Given the description of an element on the screen output the (x, y) to click on. 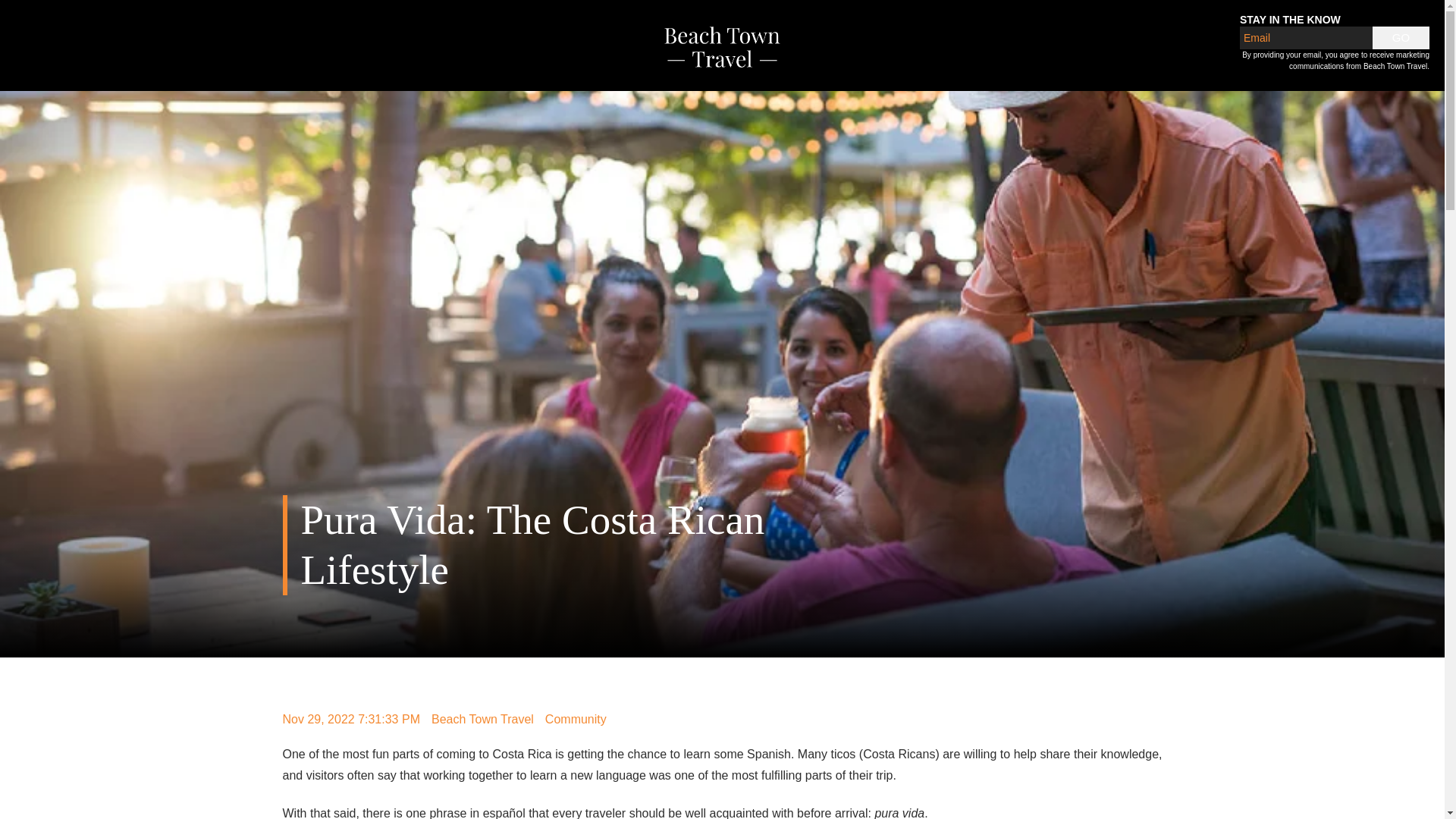
GO (1401, 37)
Beach Town Travel (482, 719)
Community (575, 718)
logo (721, 46)
GO (1401, 37)
